Given the description of an element on the screen output the (x, y) to click on. 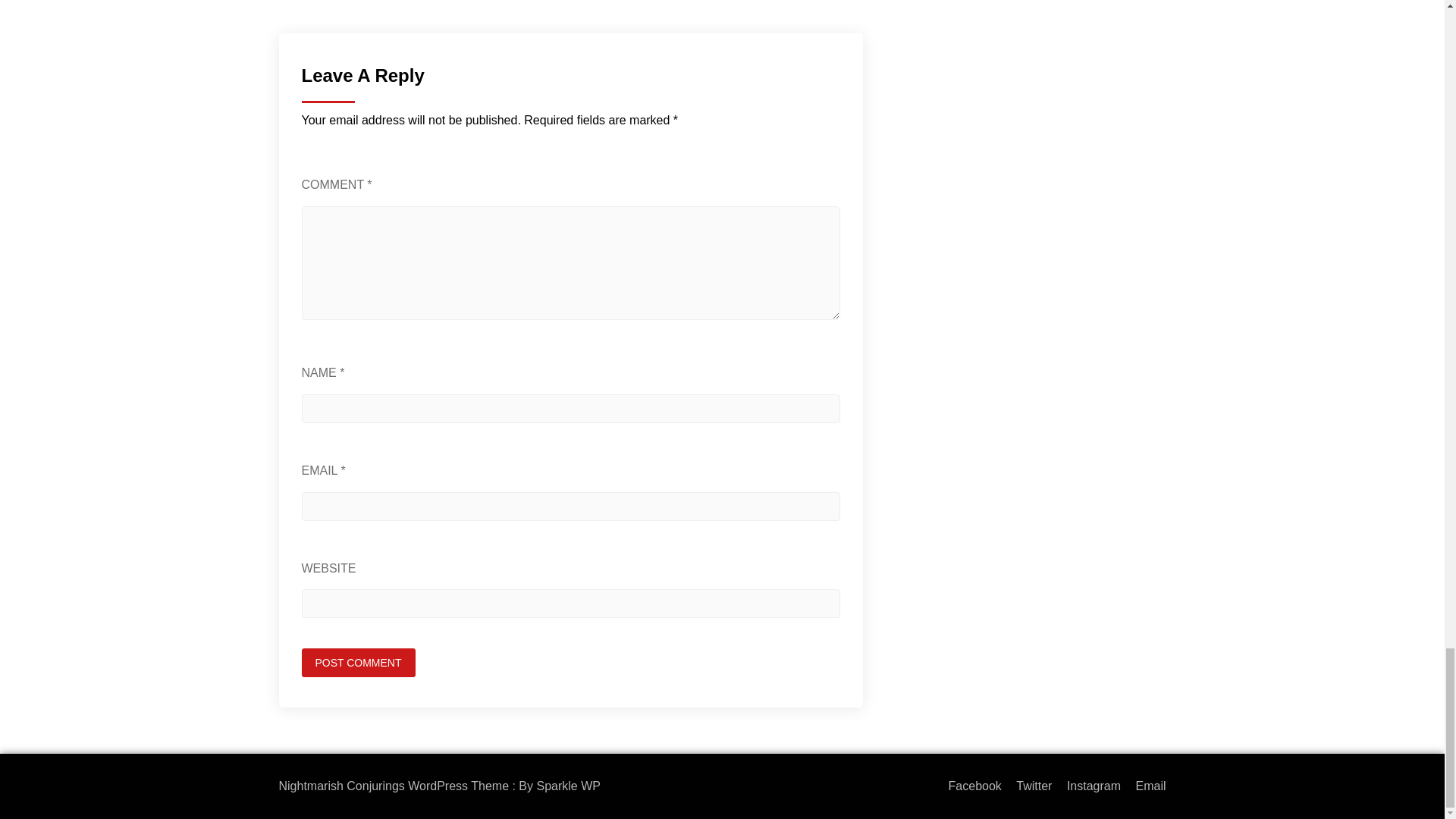
Post Comment (357, 662)
